Given the description of an element on the screen output the (x, y) to click on. 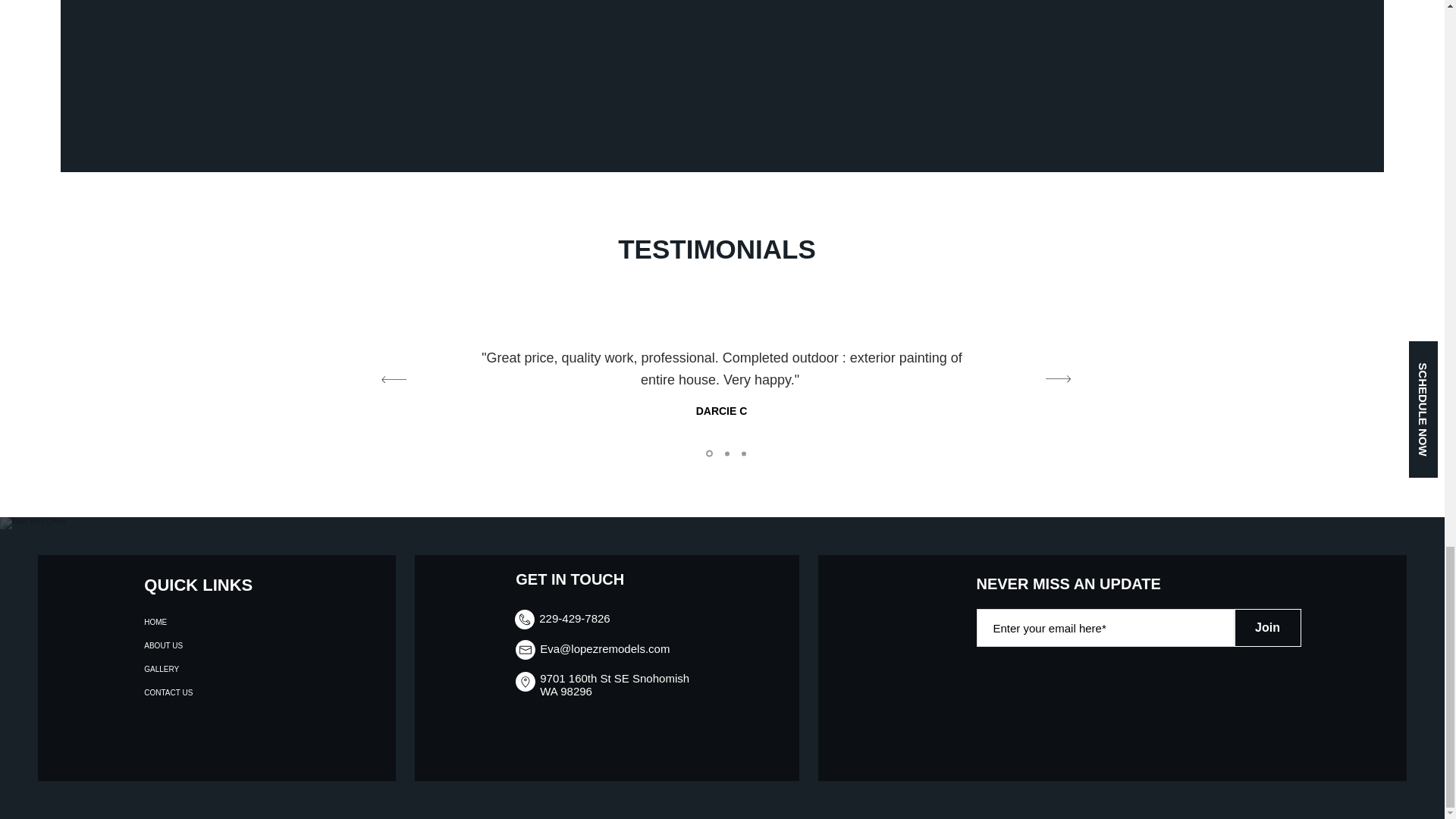
HOME (192, 621)
Join (1267, 628)
ABOUT US (192, 645)
GALLERY (192, 668)
229-429-7826 (574, 617)
CONTACT US (192, 692)
